Given the description of an element on the screen output the (x, y) to click on. 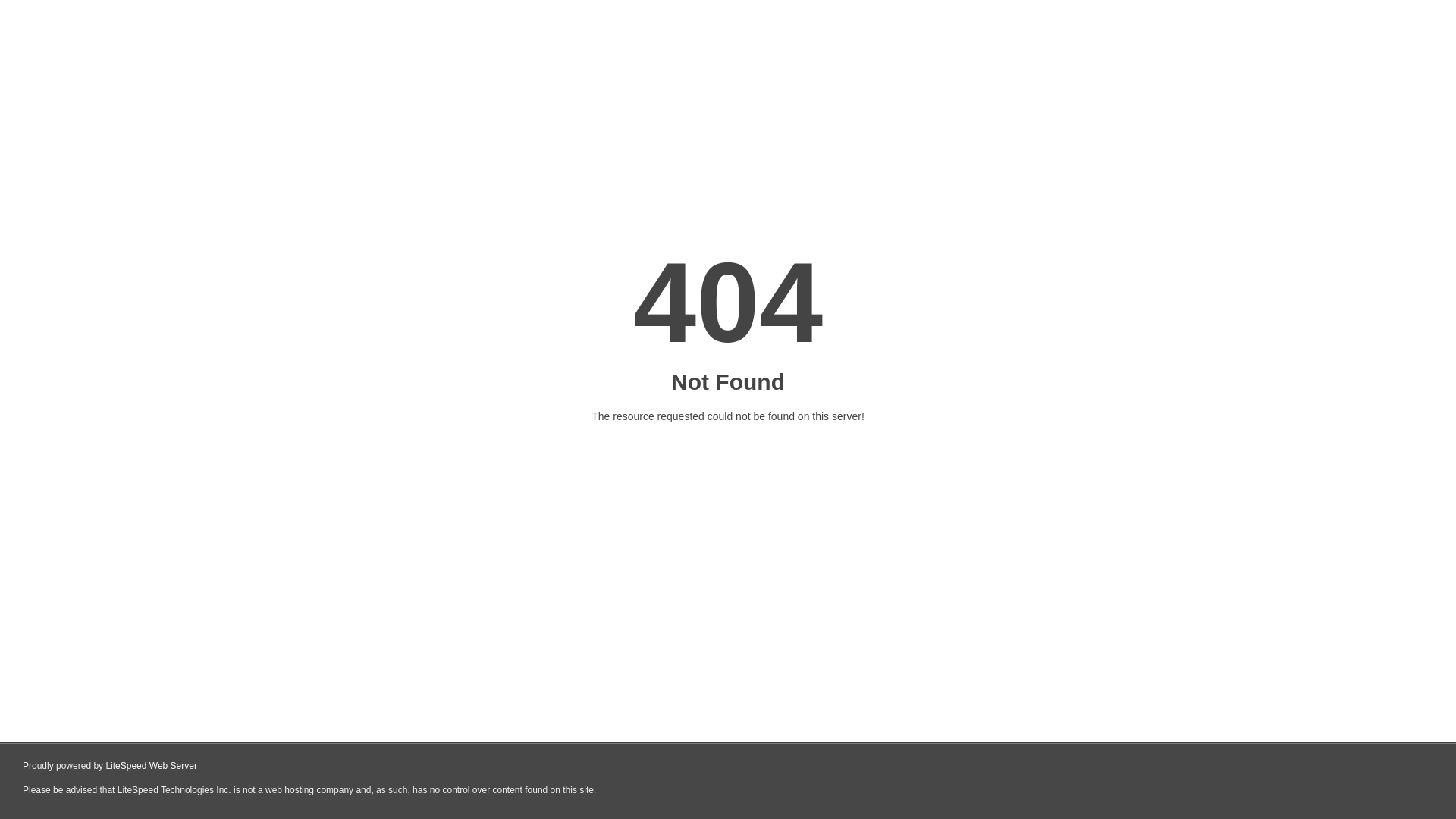
LiteSpeed Web Server Element type: text (151, 765)
